Given the description of an element on the screen output the (x, y) to click on. 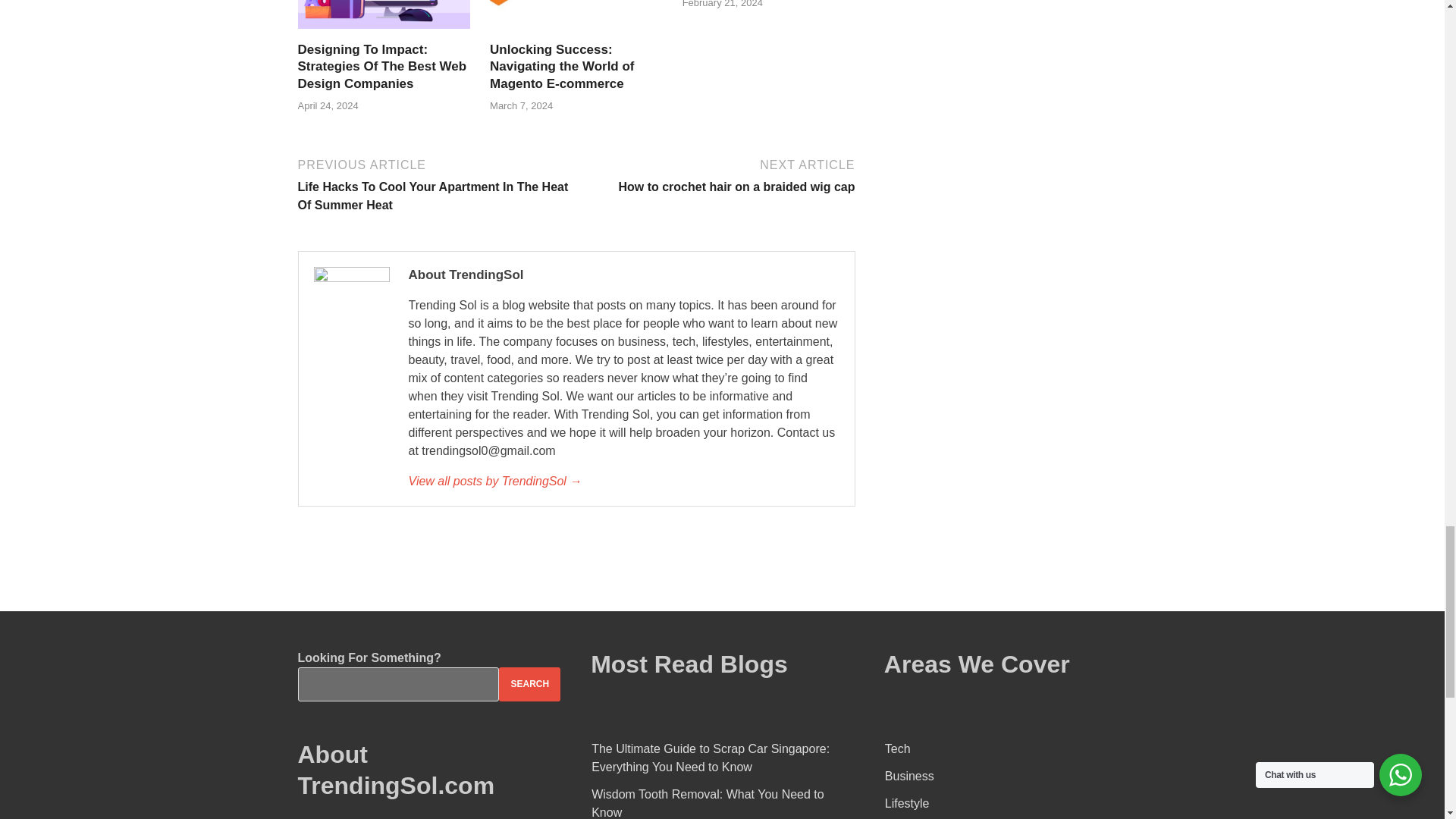
TrendingSol (622, 481)
